Given the description of an element on the screen output the (x, y) to click on. 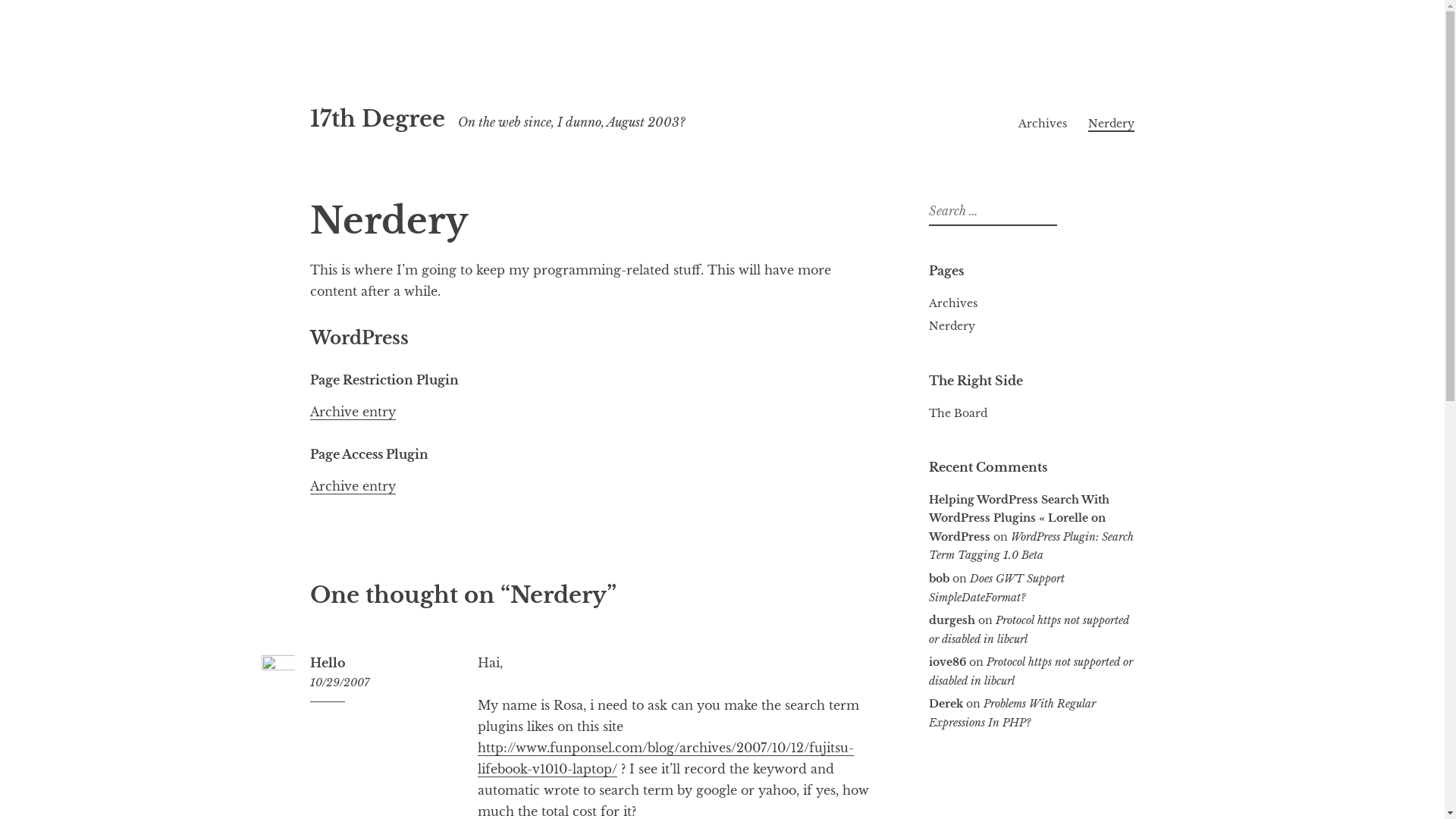
Search Element type: text (21, 14)
10/29/2007
11:37 am Element type: text (379, 682)
The Board Element type: text (957, 413)
Archive entry Element type: text (352, 486)
Archives Element type: text (952, 303)
Nerdery Element type: text (1111, 123)
WordPress Plugin: Search Term Tagging 1.0 Beta Element type: text (1030, 546)
Archive entry Element type: text (352, 412)
Protocol https not supported or disabled in libcurl Element type: text (1028, 629)
bob Element type: text (938, 578)
Problems With Regular Expressions In PHP? Element type: text (1011, 712)
durgesh Element type: text (951, 620)
iove86 Element type: text (946, 661)
Does GWT Support SimpleDateFormat? Element type: text (995, 587)
17th Degree Element type: text (376, 118)
Skip to content Element type: text (309, 84)
Nerdery Element type: text (951, 325)
Protocol https not supported or disabled in libcurl Element type: text (1030, 671)
Archives Element type: text (1042, 123)
